Given the description of an element on the screen output the (x, y) to click on. 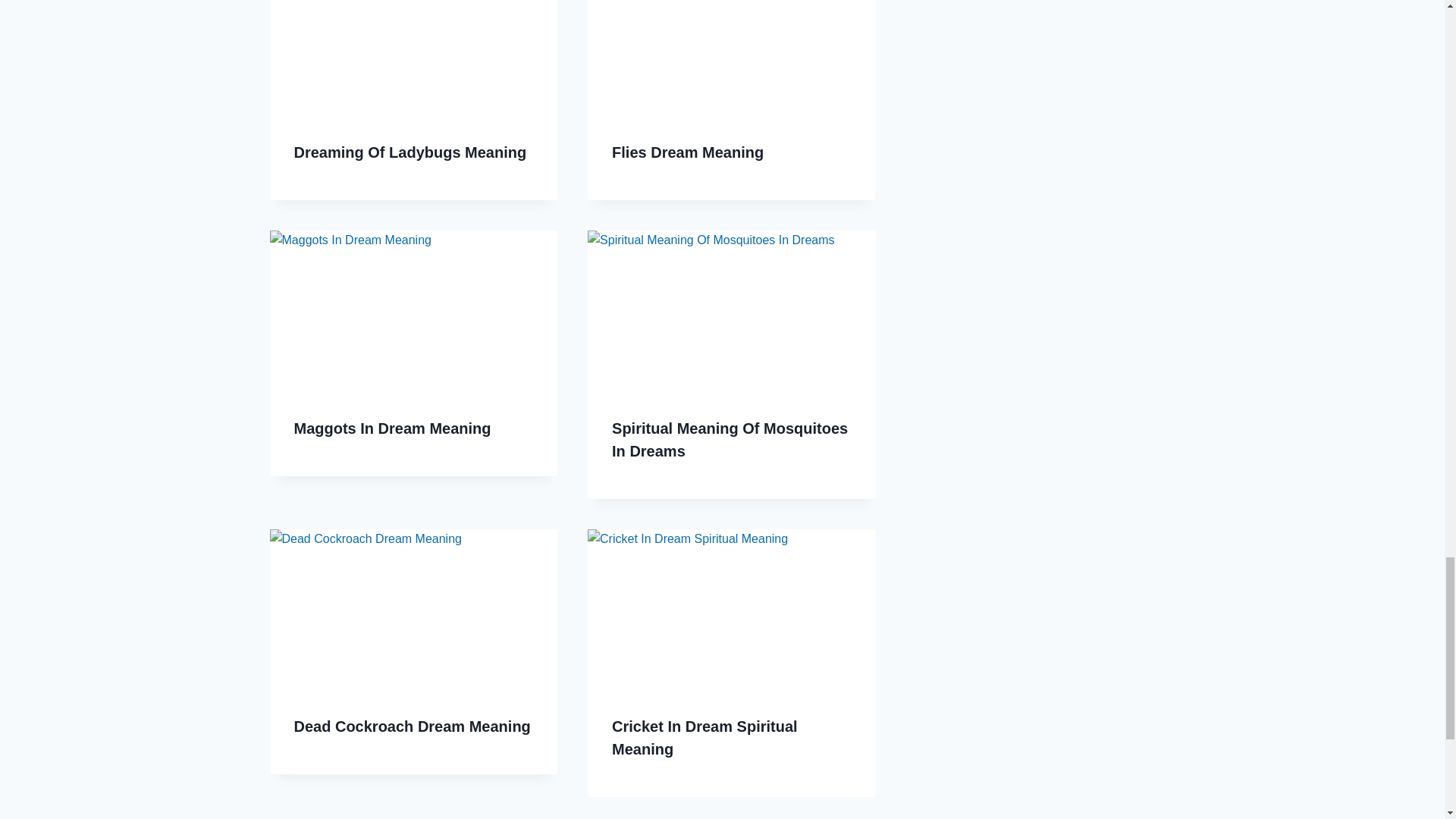
Dreaming Of Ladybugs Meaning (410, 152)
